Given the description of an element on the screen output the (x, y) to click on. 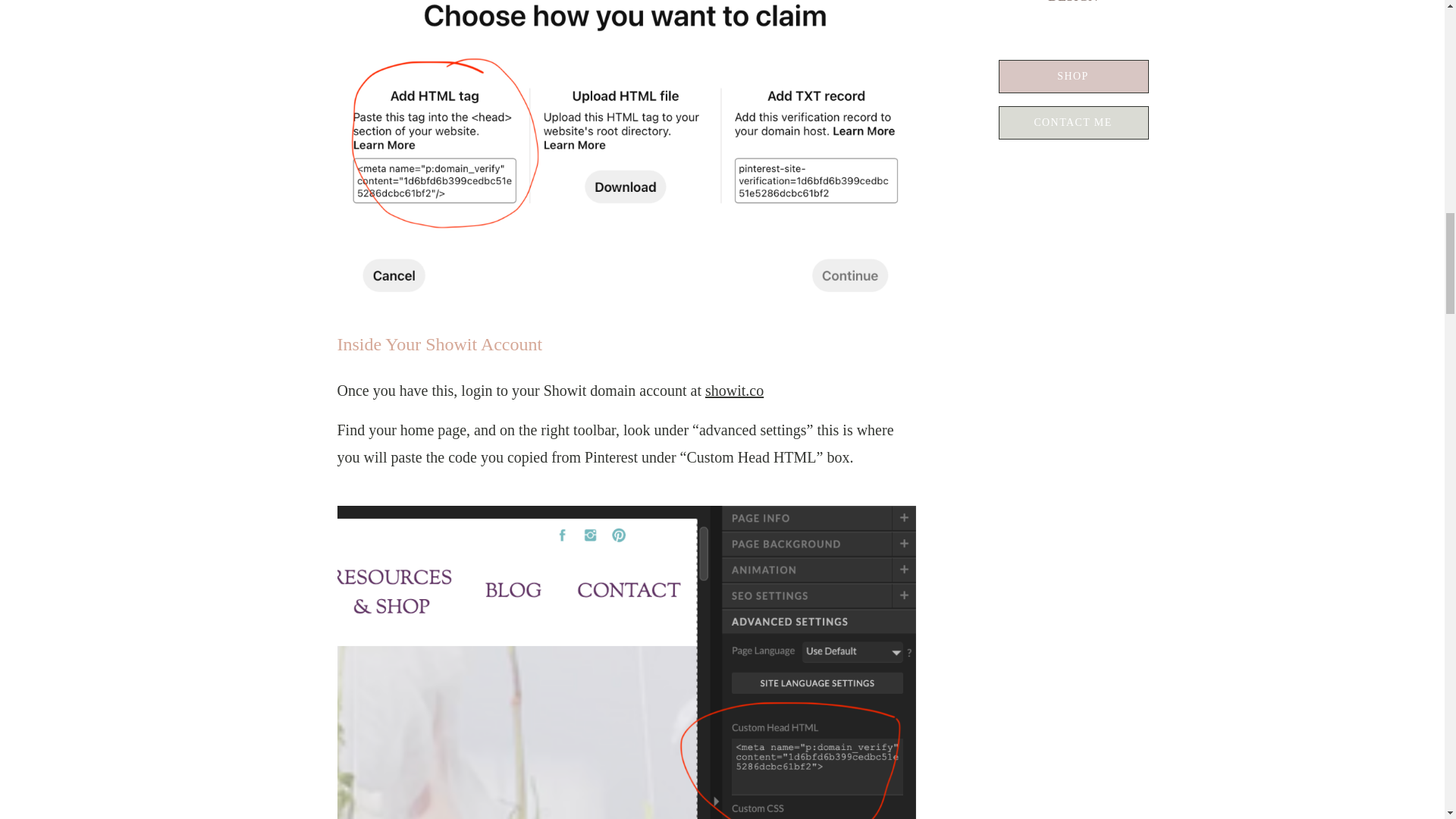
showit.co (733, 390)
SHOP (1073, 76)
CONTACT ME (1073, 122)
